Given the description of an element on the screen output the (x, y) to click on. 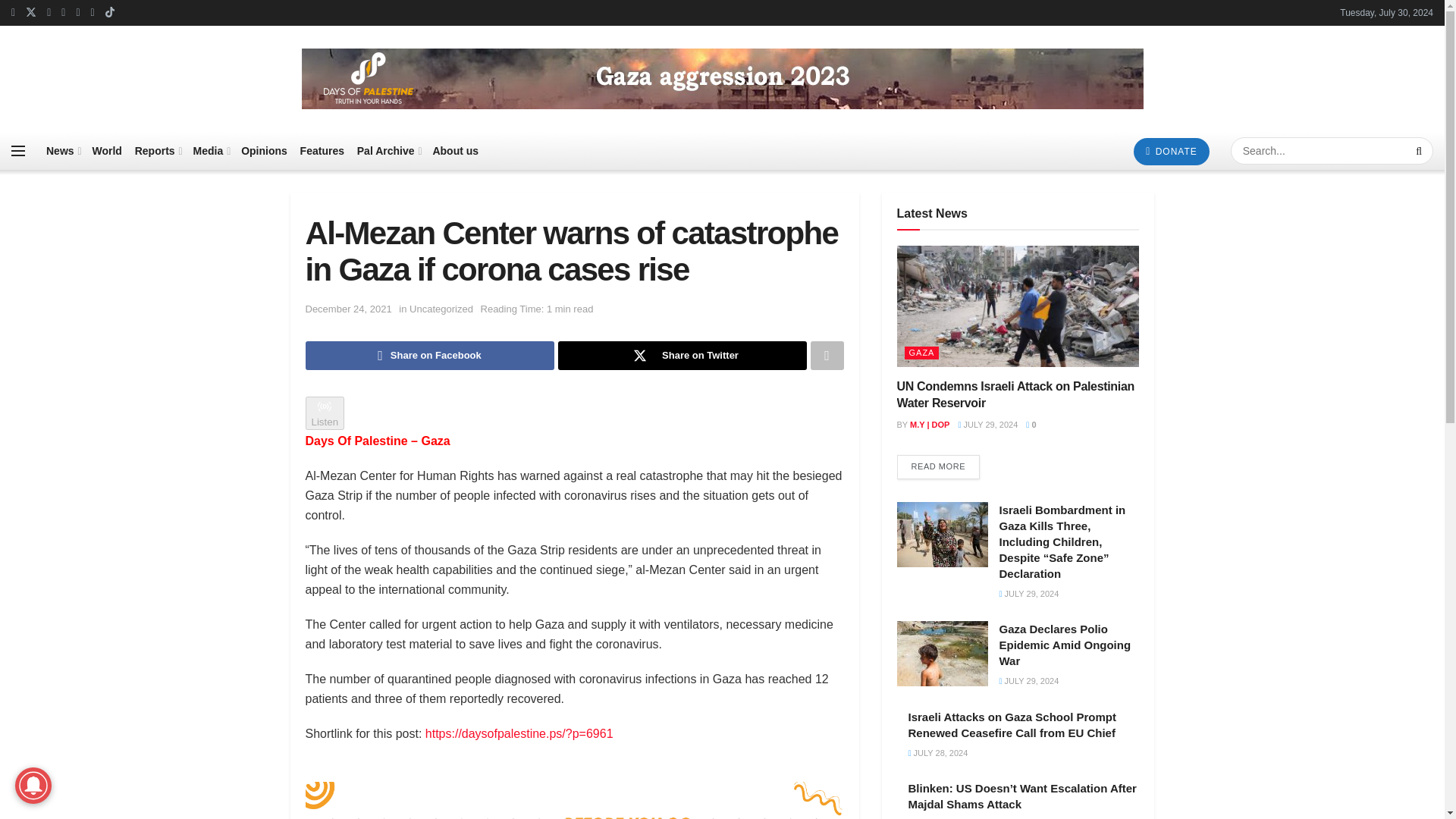
Opinions (263, 150)
Media (210, 150)
Pal Archive (388, 150)
Reports (157, 150)
Features (321, 150)
Gaza Declares Polio Epidemic Amid Ongoing War 3 (941, 653)
UN Condemns Israeli Attack on Palestinian Water Reservoir 1 (1017, 305)
